Given the description of an element on the screen output the (x, y) to click on. 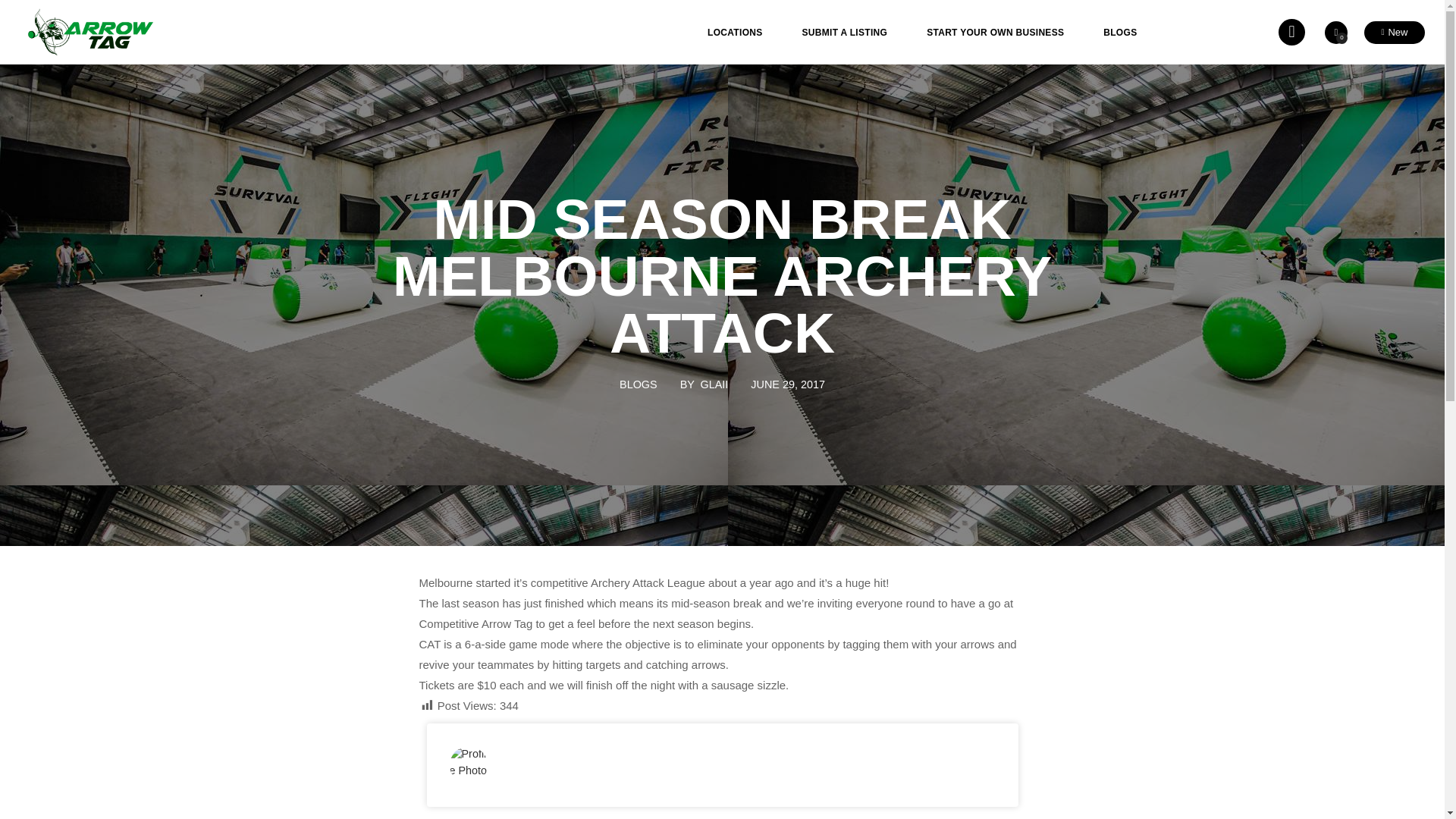
START YOUR OWN BUSINESS (994, 32)
SUBMIT A LISTING (844, 32)
0 (1336, 32)
BLOGS (1119, 32)
LOCATIONS (740, 32)
New (1394, 32)
